Given the description of an element on the screen output the (x, y) to click on. 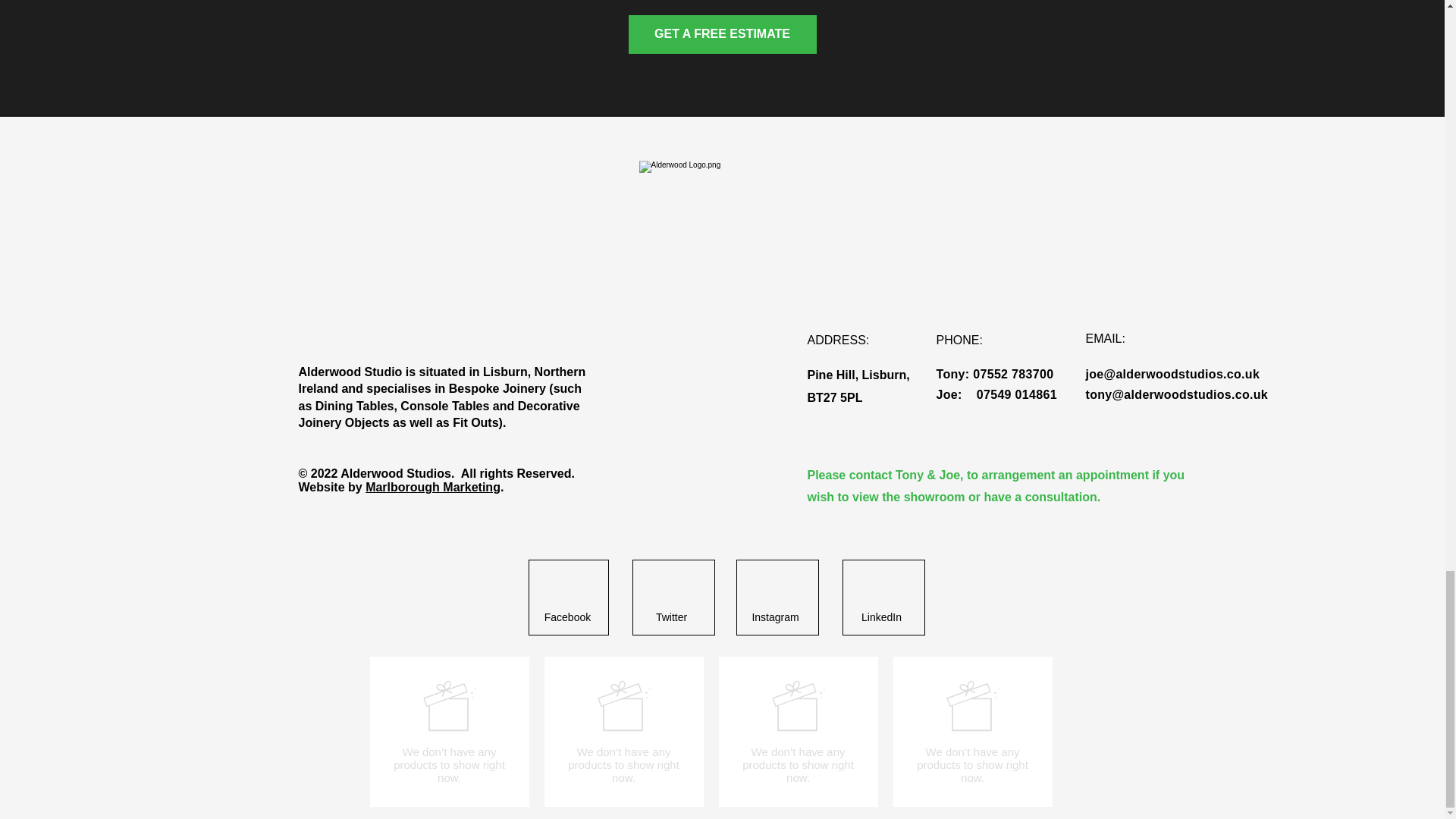
GET A FREE ESTIMATE (721, 34)
LinkedIn (881, 617)
Marlborough Marketing (432, 486)
Facebook (567, 617)
Instagram (775, 617)
Twitter (670, 617)
